Given the description of an element on the screen output the (x, y) to click on. 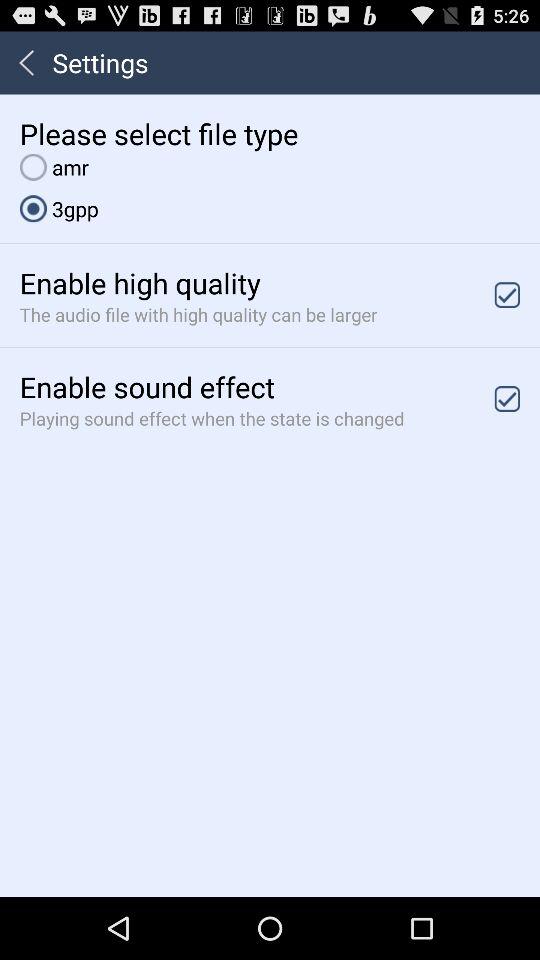
turn off icon to the left of the settings icon (26, 62)
